Given the description of an element on the screen output the (x, y) to click on. 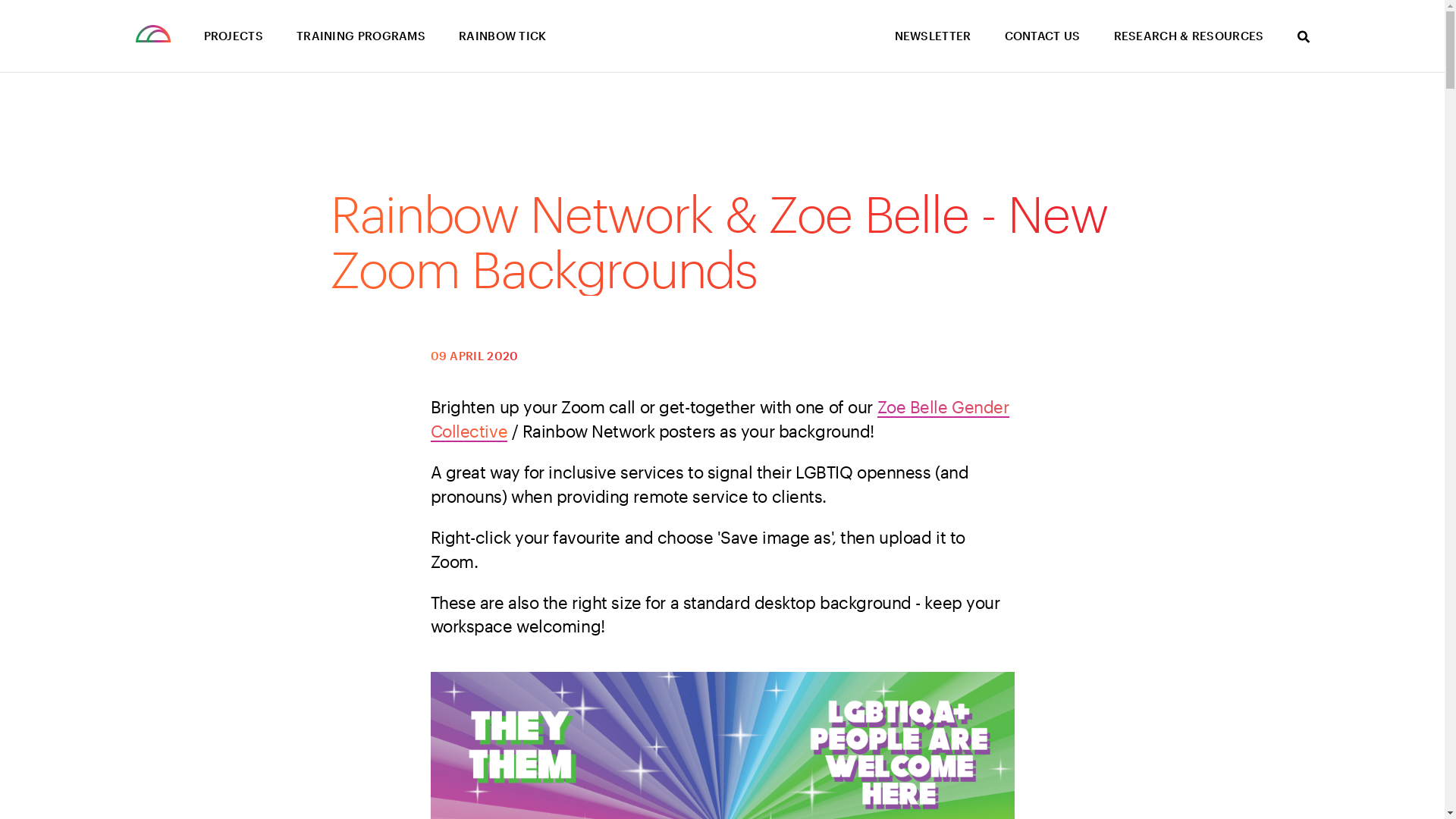
RESEARCH & RESOURCES Element type: text (1188, 35)
PROJECTS Element type: text (232, 35)
Zoe Belle Gender Collective Element type: text (719, 419)
NEWSLETTER Element type: text (932, 35)
CONTACT US Element type: text (1041, 35)
RAINBOW TICK Element type: text (502, 35)
TRAINING PROGRAMS Element type: text (360, 35)
